Given the description of an element on the screen output the (x, y) to click on. 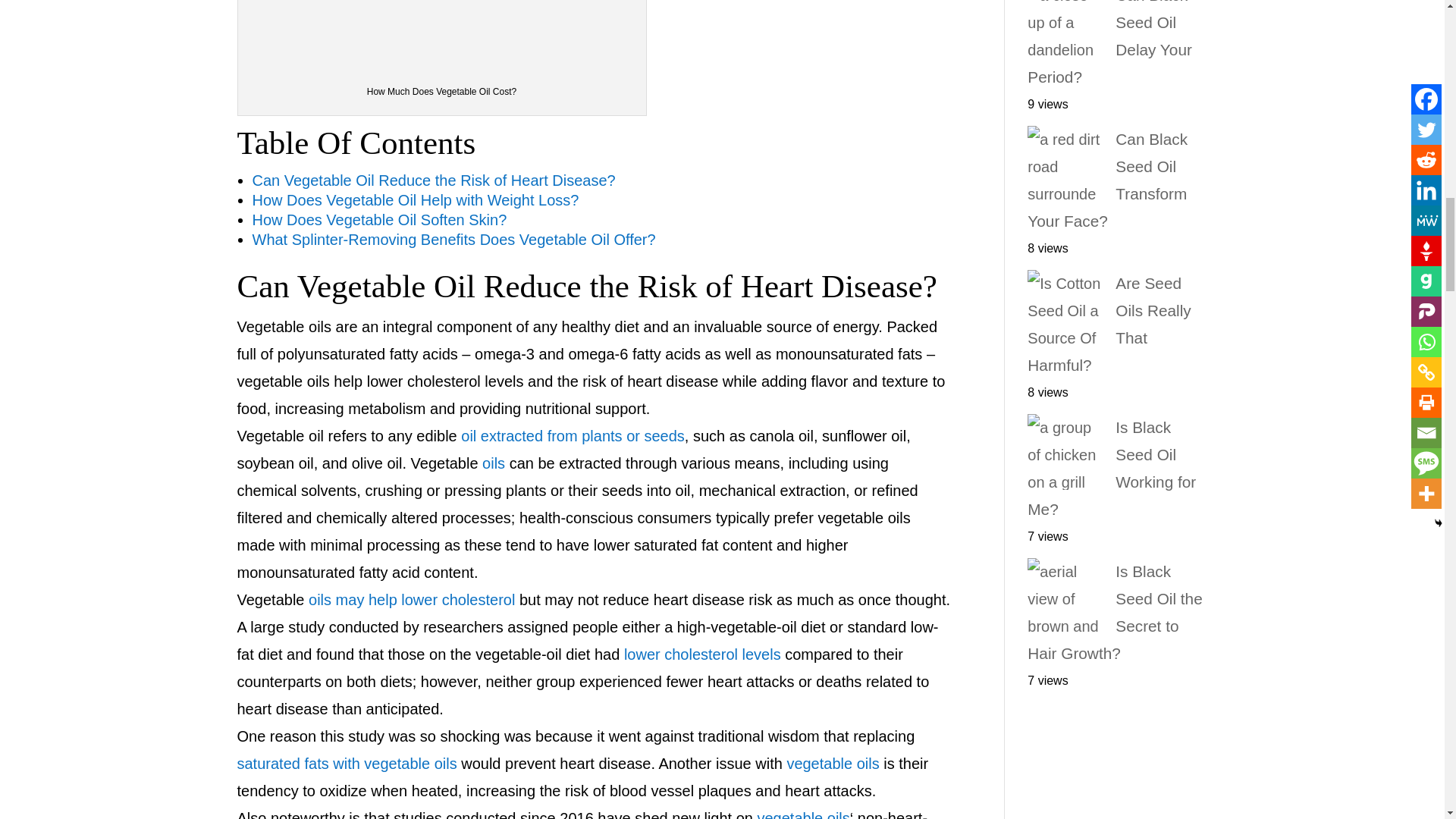
How Does Vegetable Oil Help with Weight Loss? (414, 199)
How Does Vegetable Oil Soften Skin? (378, 219)
Can Vegetable Oil Reduce the Risk of Heart Disease? (432, 180)
How Much Does Vegetable Oil Cost? (442, 34)
What Splinter-Removing Benefits Does Vegetable Oil Offer? (453, 239)
